Given the description of an element on the screen output the (x, y) to click on. 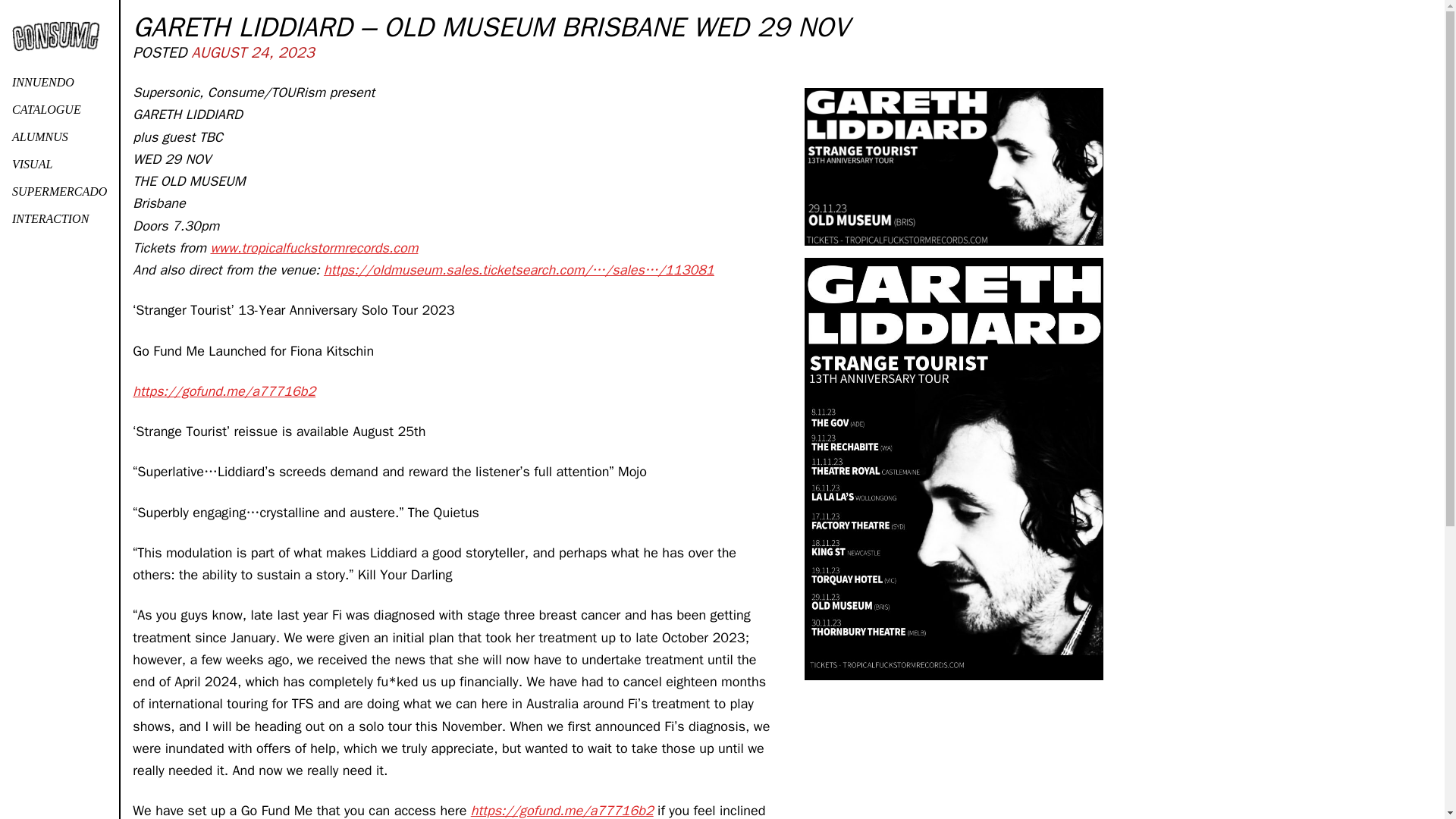
VISUAL (59, 164)
INTERACTION (59, 218)
ALUMNUS (59, 136)
CATALOGUE (59, 109)
www.tropicalfuckstormrecords.com (313, 247)
INNUENDO (59, 82)
SUPERMERCADO (59, 191)
